Given the description of an element on the screen output the (x, y) to click on. 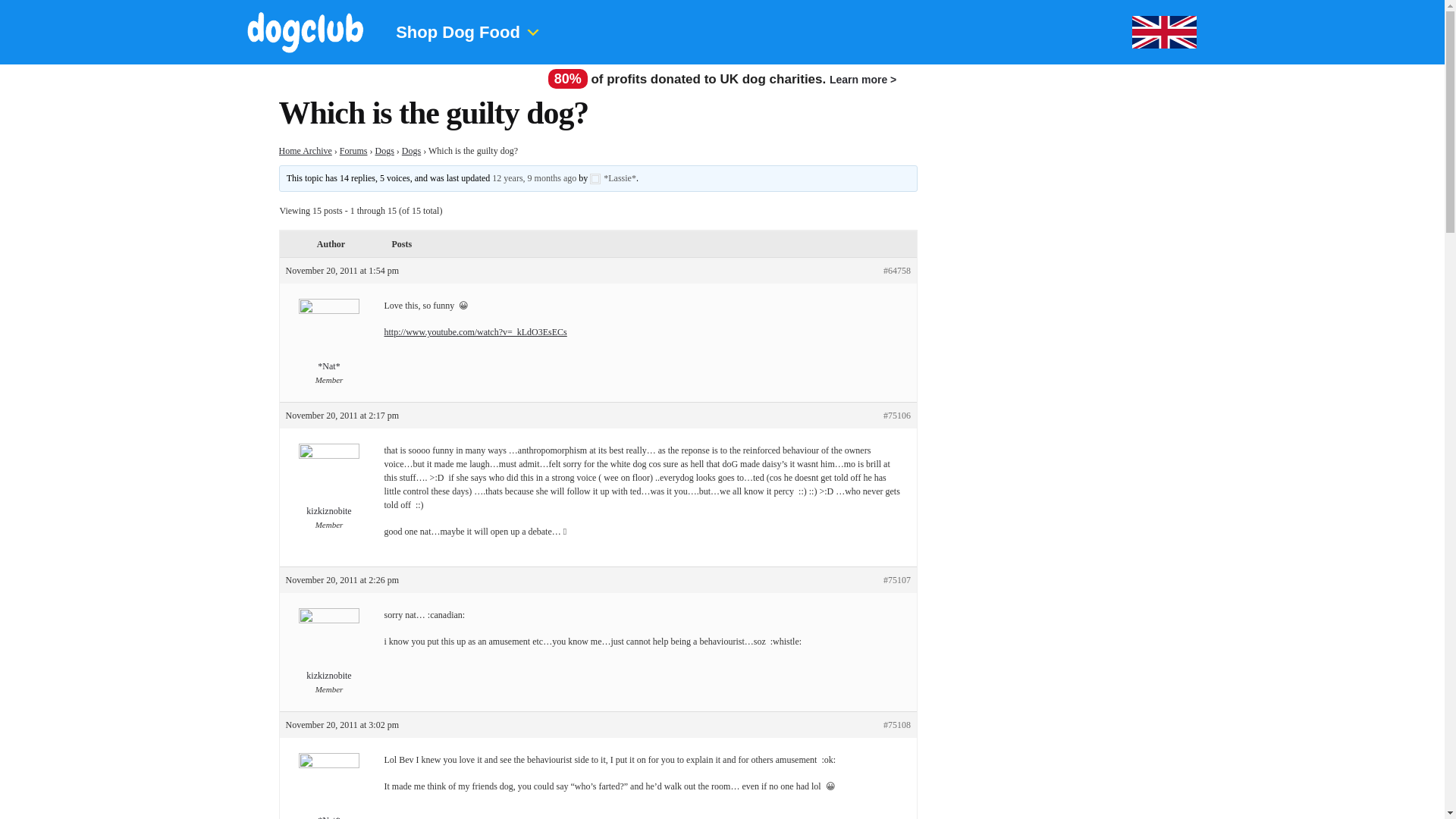
Re: Which is the guilty dog? (534, 177)
View kizkiznobite's profile (328, 648)
View kizkiznobite's profile (328, 483)
Shop Dog Food (476, 32)
